Given the description of an element on the screen output the (x, y) to click on. 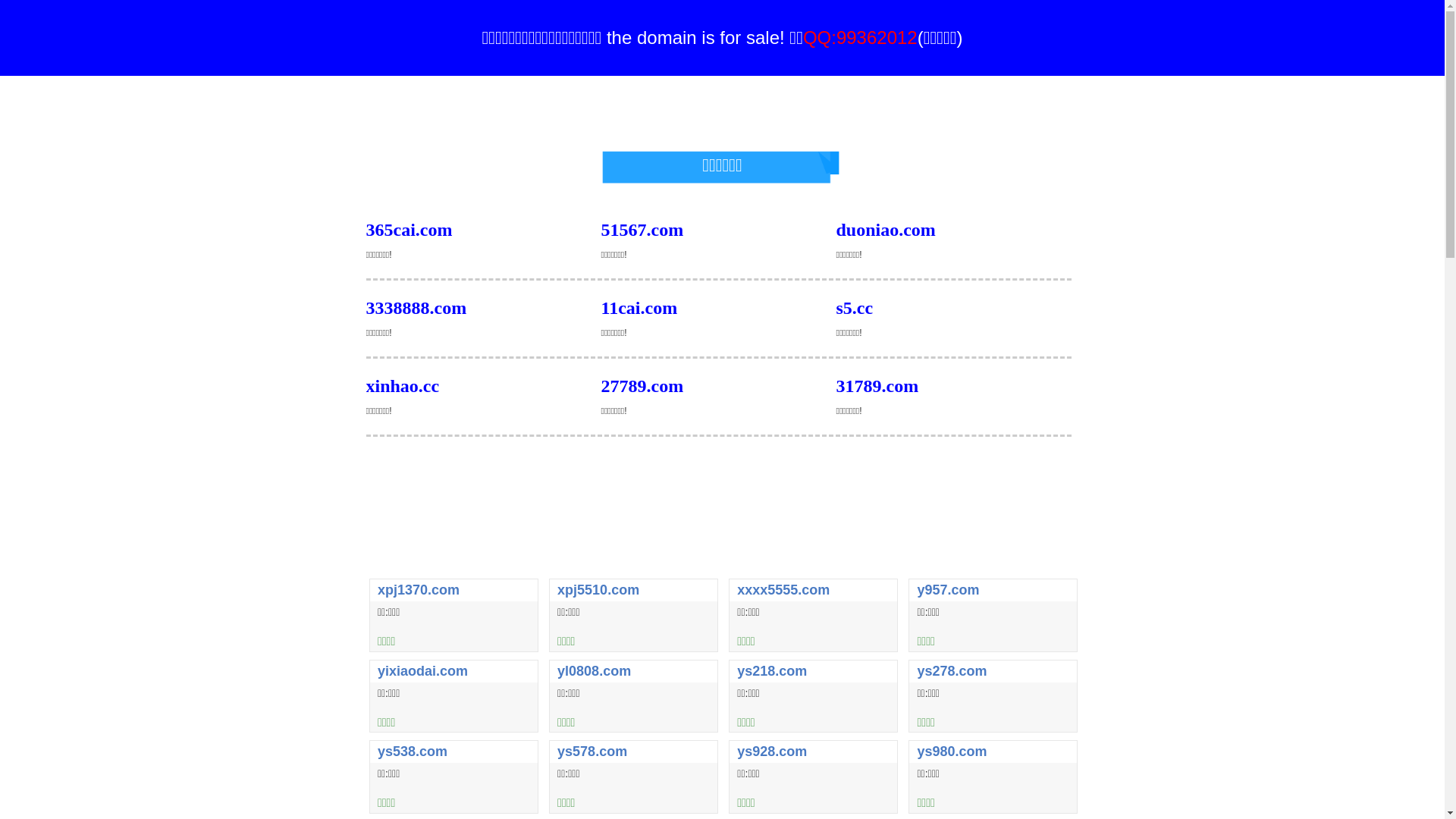
Advertisement Element type: hover (721, 534)
Advertisement Element type: hover (721, 475)
Advertisement Element type: hover (721, 109)
